Given the description of an element on the screen output the (x, y) to click on. 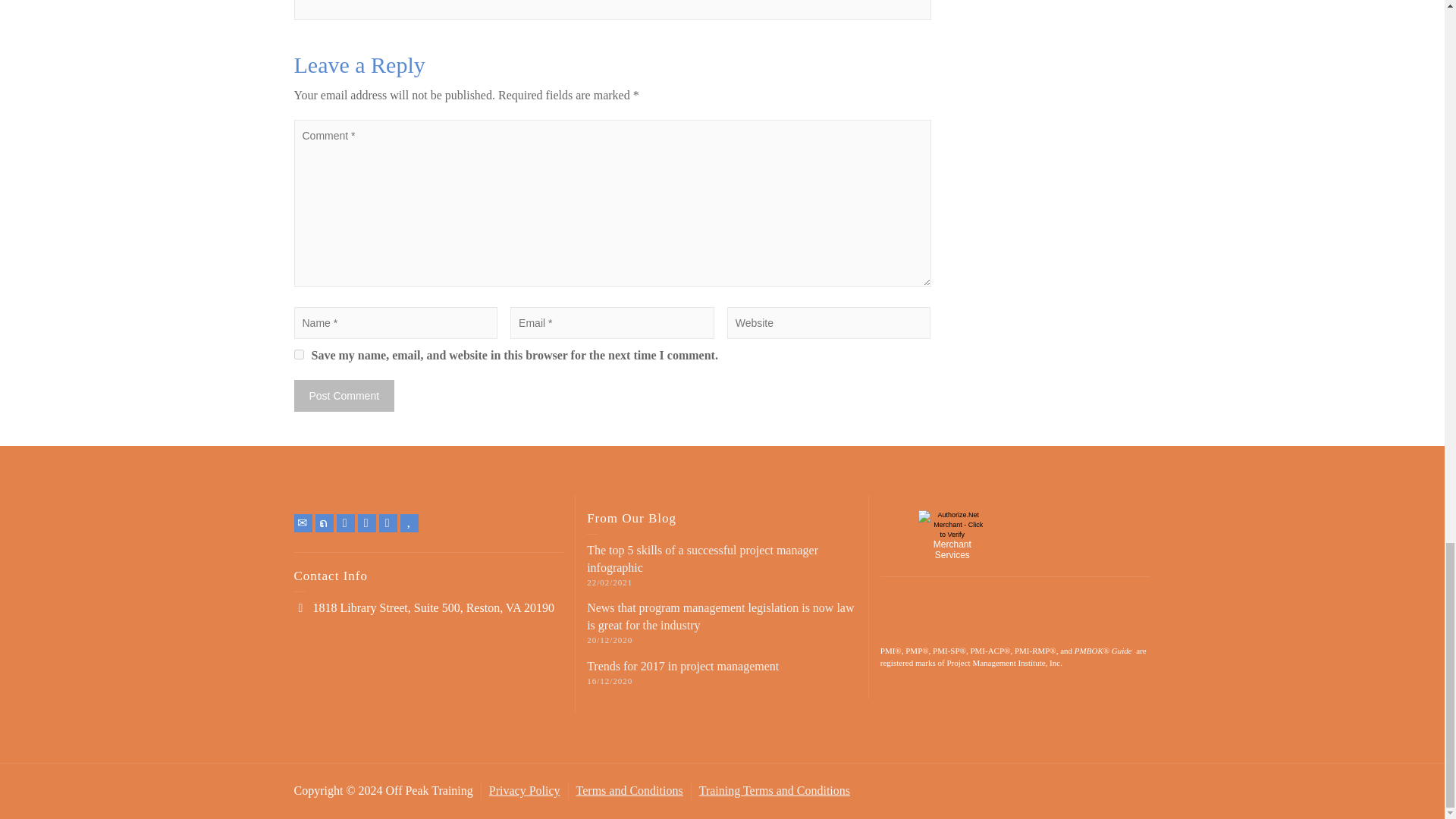
yes (299, 354)
Post Comment (344, 395)
